Given the description of an element on the screen output the (x, y) to click on. 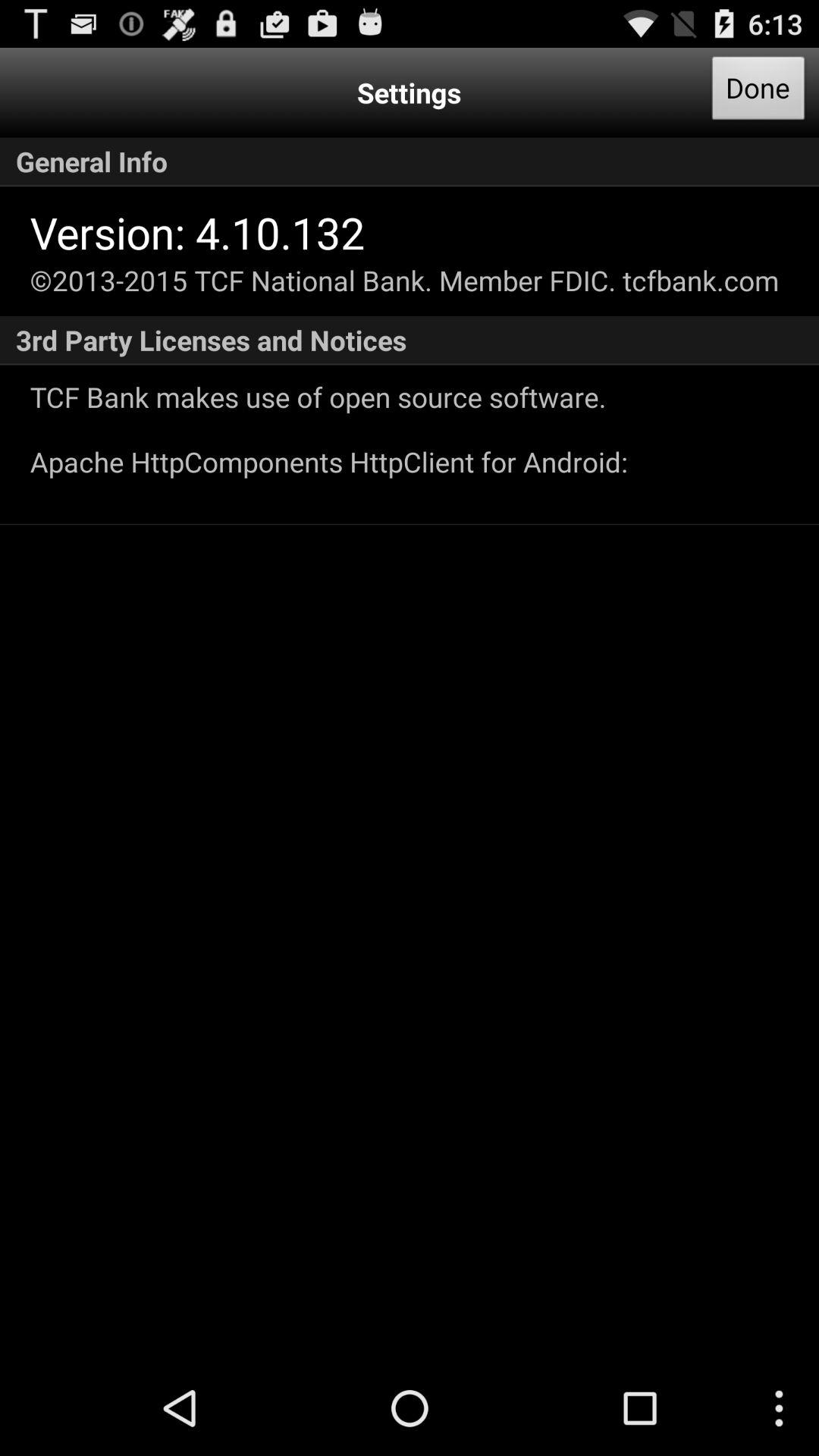
tap the icon below the version 4 10 app (404, 280)
